Given the description of an element on the screen output the (x, y) to click on. 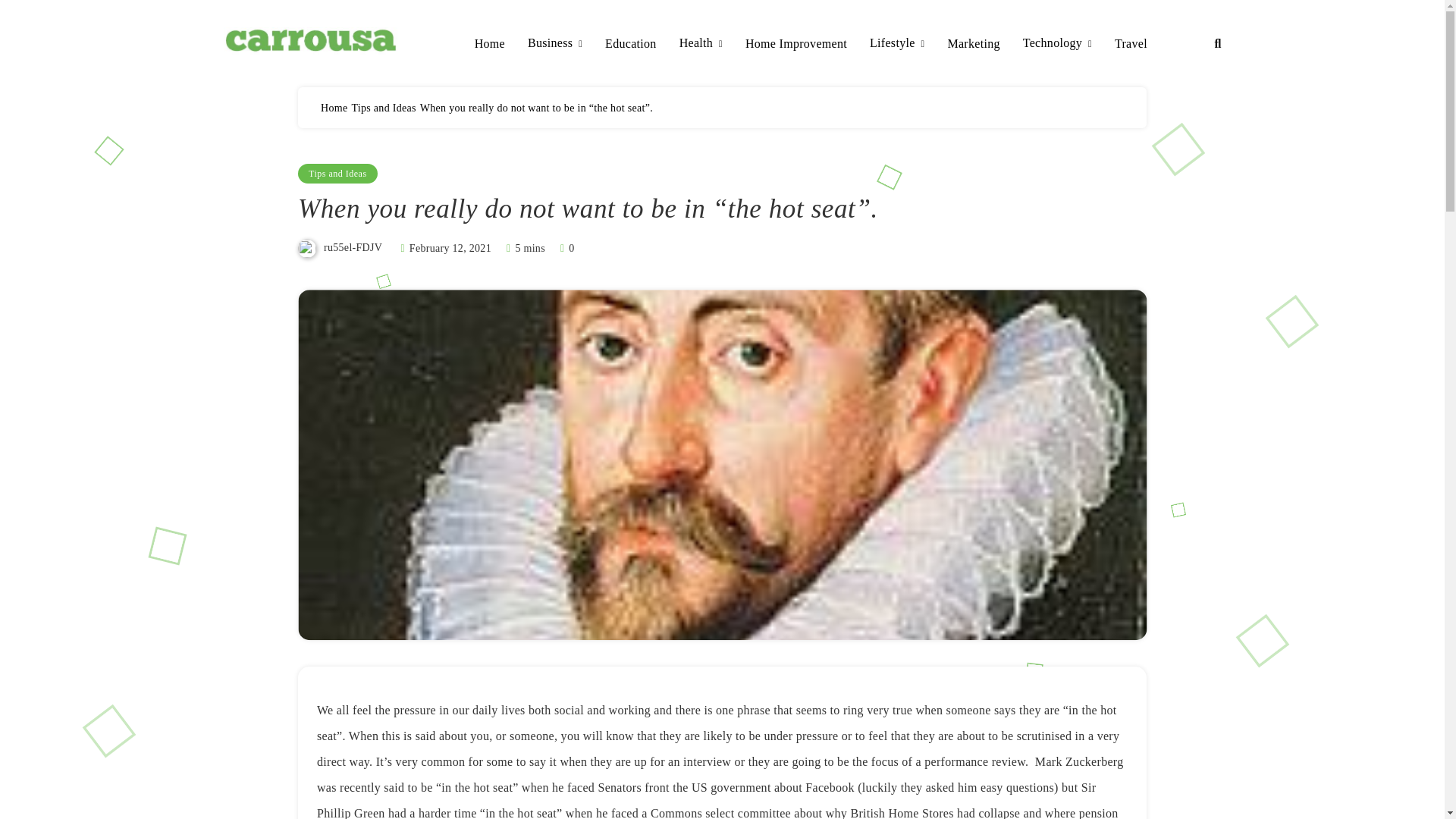
February 12, 2021 (450, 247)
Home (333, 107)
Home Improvement (796, 44)
ru55el-FDJV (352, 247)
CARROUSSA (307, 76)
Lifestyle (896, 43)
0 (565, 247)
Marketing (972, 44)
Tips and Ideas (382, 107)
Health (700, 43)
